Given the description of an element on the screen output the (x, y) to click on. 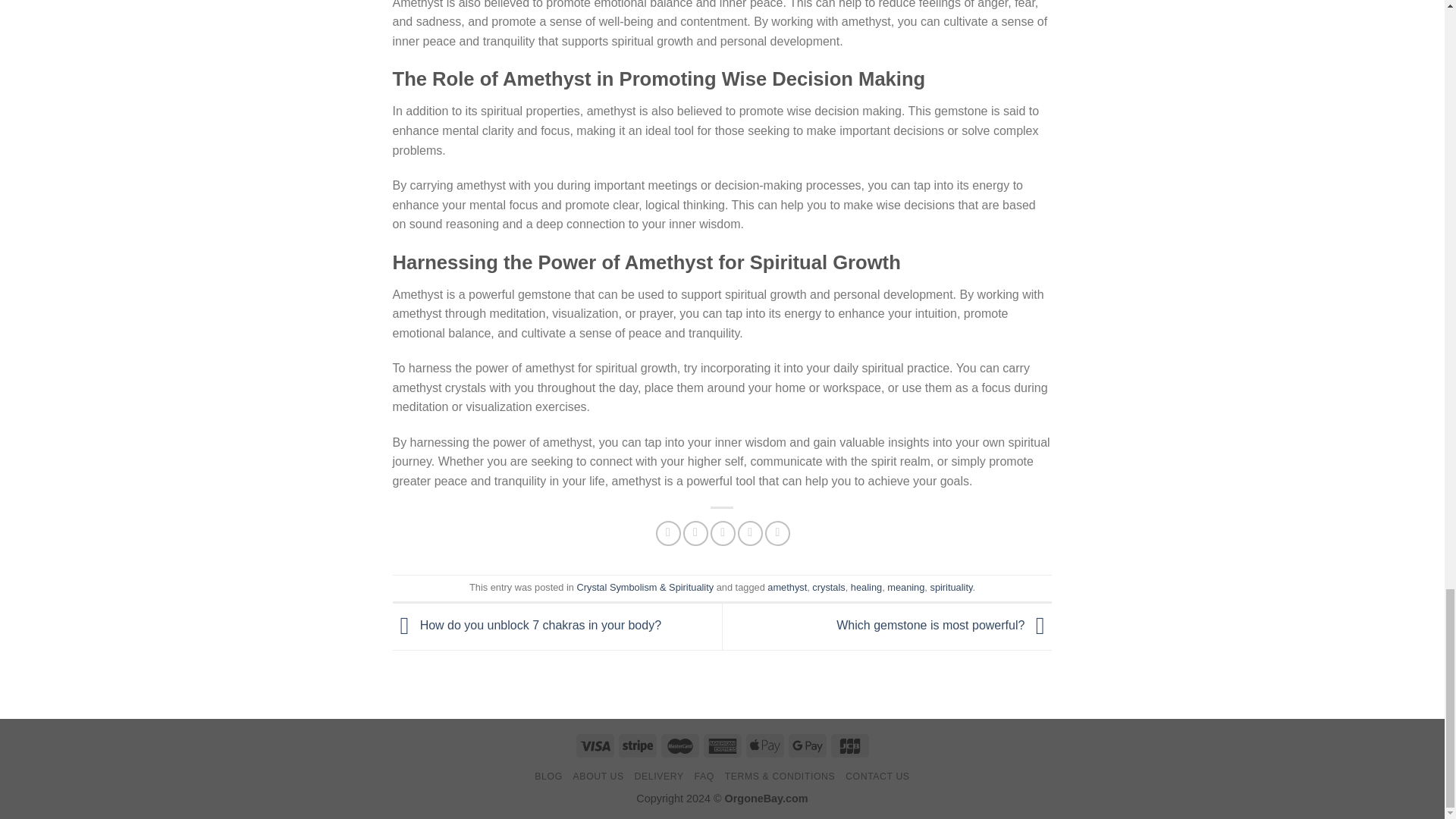
Share on LinkedIn (777, 533)
Pin on Pinterest (750, 533)
Share on Twitter (694, 533)
Email to a Friend (722, 533)
Share on Facebook (668, 533)
